Given the description of an element on the screen output the (x, y) to click on. 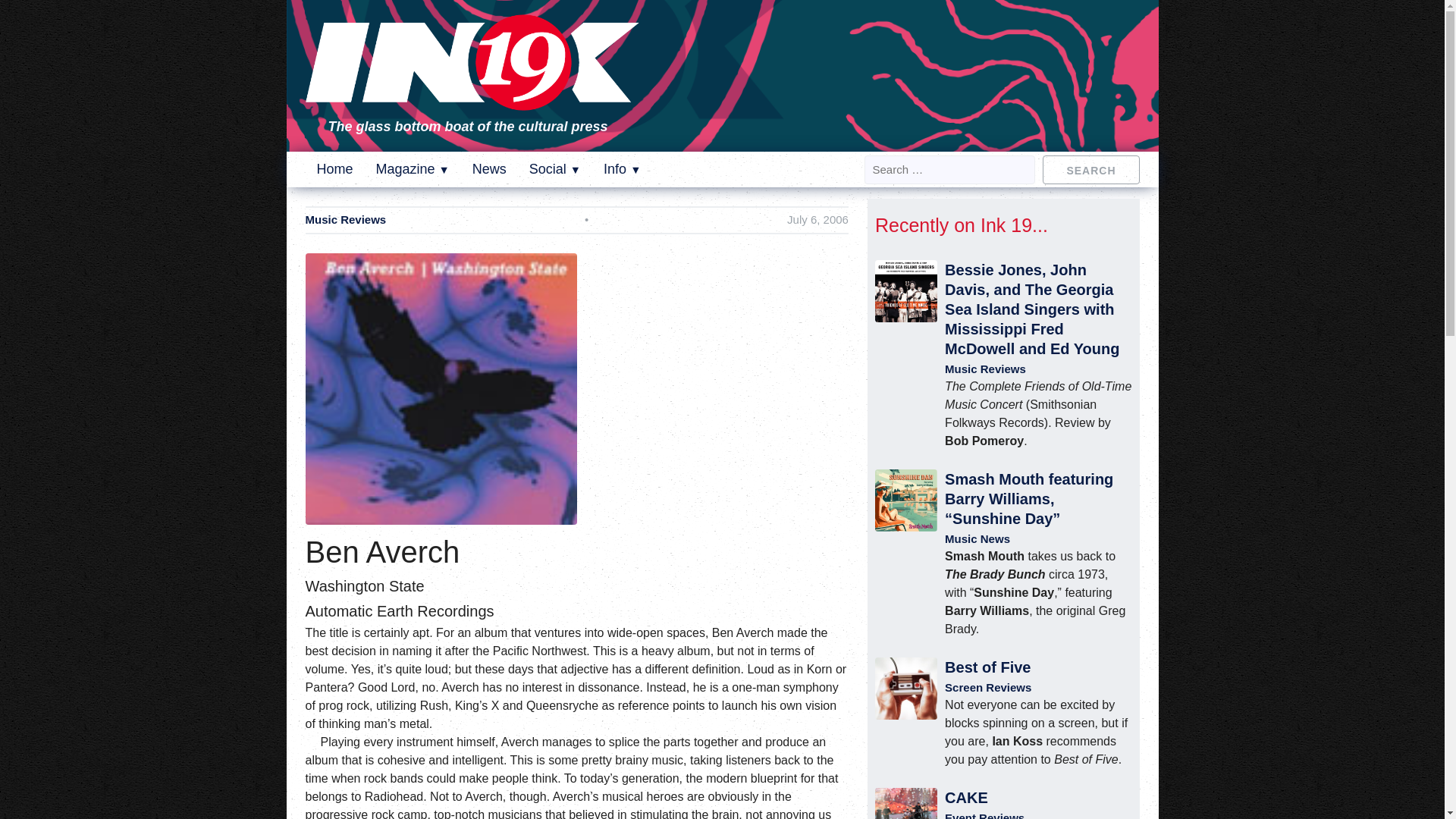
Social (554, 168)
Search (1090, 168)
Info (622, 168)
Ink 19 (471, 100)
Magazine (412, 168)
Music Reviews (344, 220)
Search (1090, 168)
News (488, 168)
Home (335, 168)
Search (1090, 168)
